Given the description of an element on the screen output the (x, y) to click on. 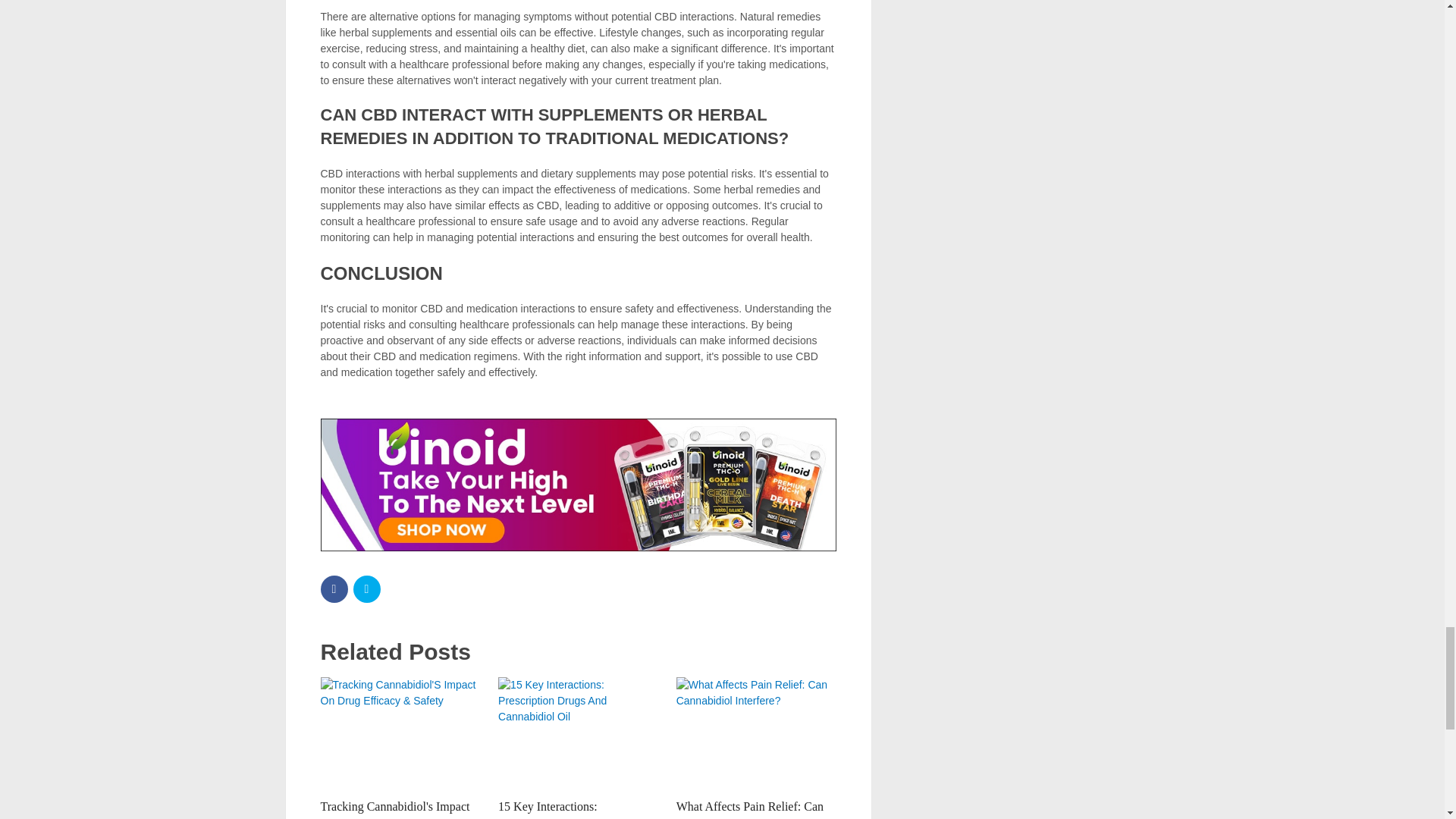
What Affects Pain Relief: Can Cannabidiol Interfere? (756, 734)
What Affects Pain Relief: Can Cannabidiol Interfere? (750, 809)
15 Key Interactions: Prescription Drugs and Cannabidiol Oil (577, 734)
15 Key Interactions: Prescription Drugs and Cannabidiol Oil (553, 809)
15 Key Interactions: Prescription Drugs and Cannabidiol Oil (553, 809)
What Affects Pain Relief: Can Cannabidiol Interfere? (750, 809)
